Given the description of an element on the screen output the (x, y) to click on. 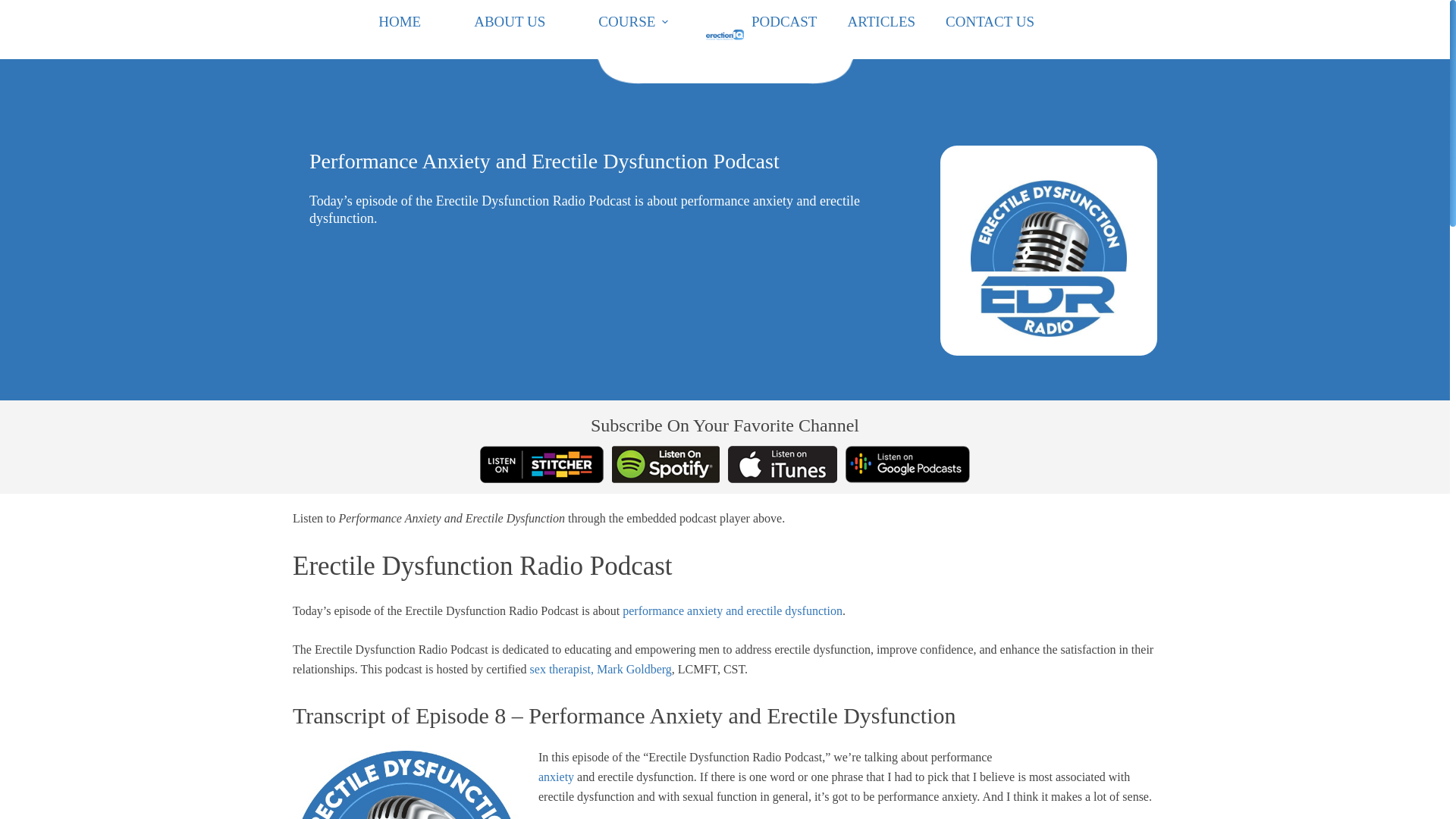
CONTACT US (1004, 22)
anxiety (555, 776)
PODCAST (799, 22)
Performance Anxiety and Erectile Dysfunction Podcast (598, 161)
performance anxiety and erectile dysfunction (733, 610)
HOME (403, 22)
Skip to content (15, 7)
COURSE (636, 22)
Performance Anxiety and Erectile Dysfunction (598, 297)
ARTICLES (895, 22)
